Given the description of an element on the screen output the (x, y) to click on. 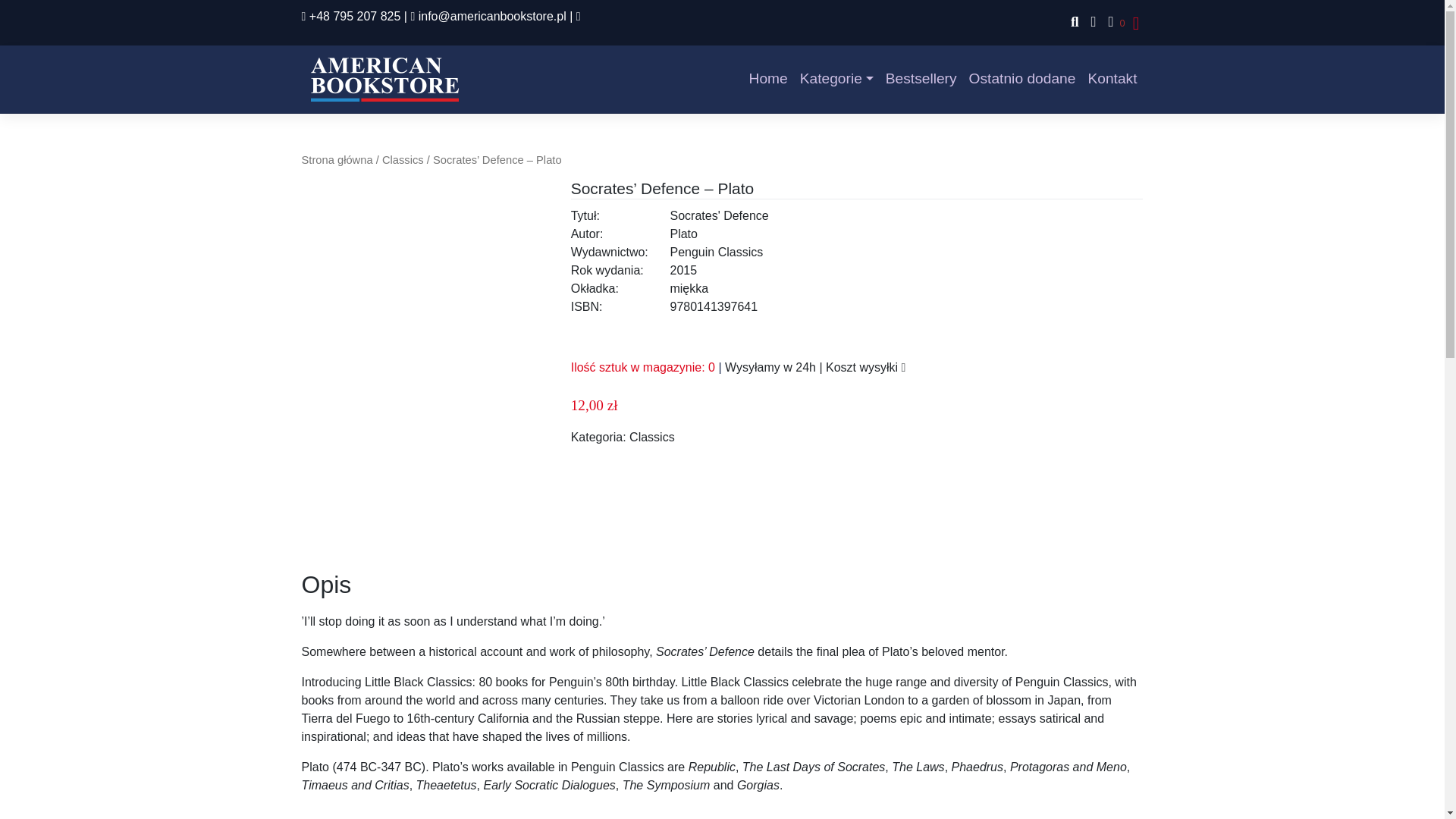
Kategorie (836, 79)
0 (1113, 22)
Home (767, 79)
Kategorie (836, 79)
Home (767, 79)
